Given the description of an element on the screen output the (x, y) to click on. 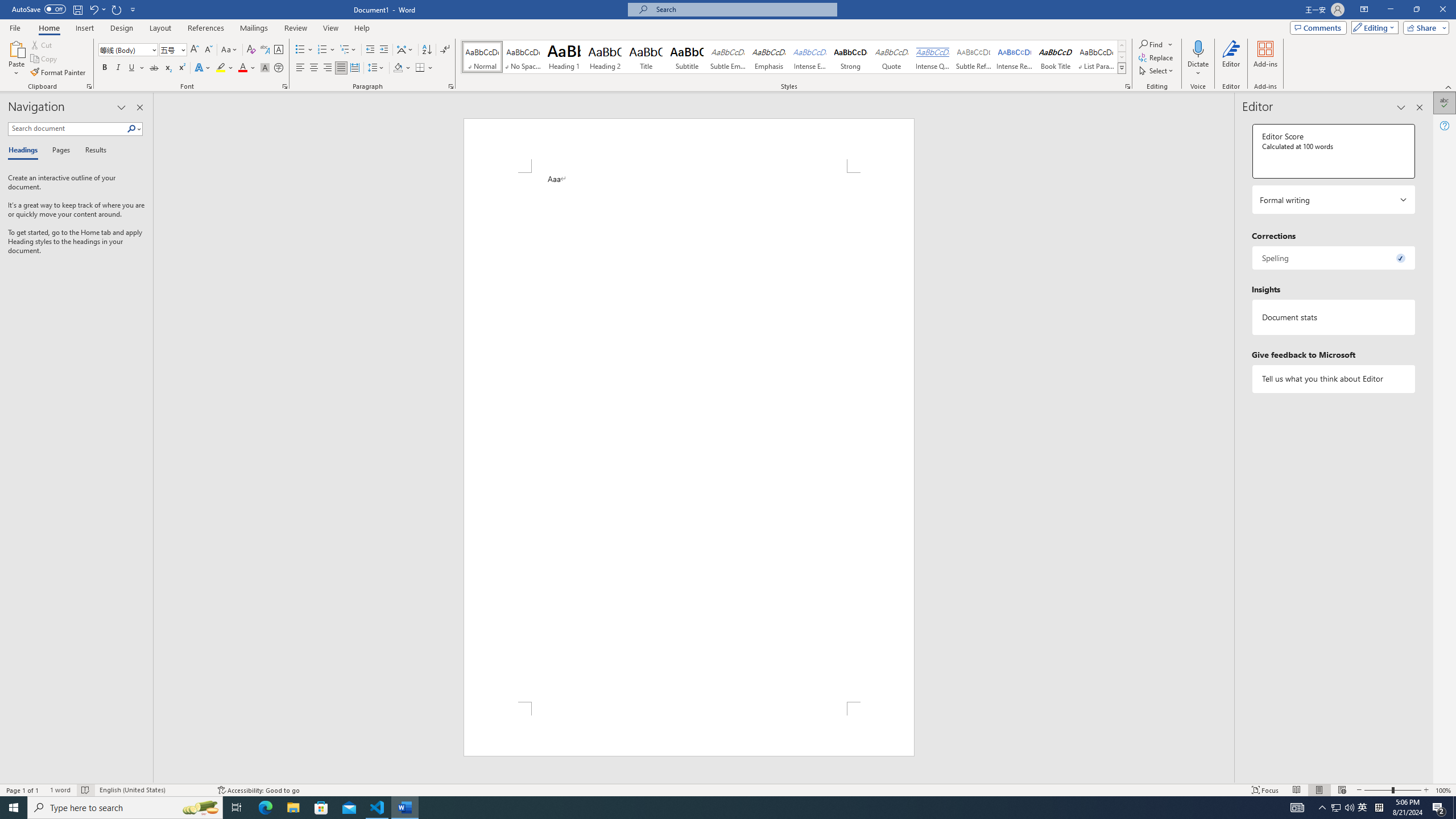
Office Clipboard... (88, 85)
Shading RGB(0, 0, 0) (397, 67)
Mode (1372, 27)
Align Left (300, 67)
Pages (59, 150)
Align Right (327, 67)
Line and Paragraph Spacing (376, 67)
Intense Reference (1014, 56)
